Given the description of an element on the screen output the (x, y) to click on. 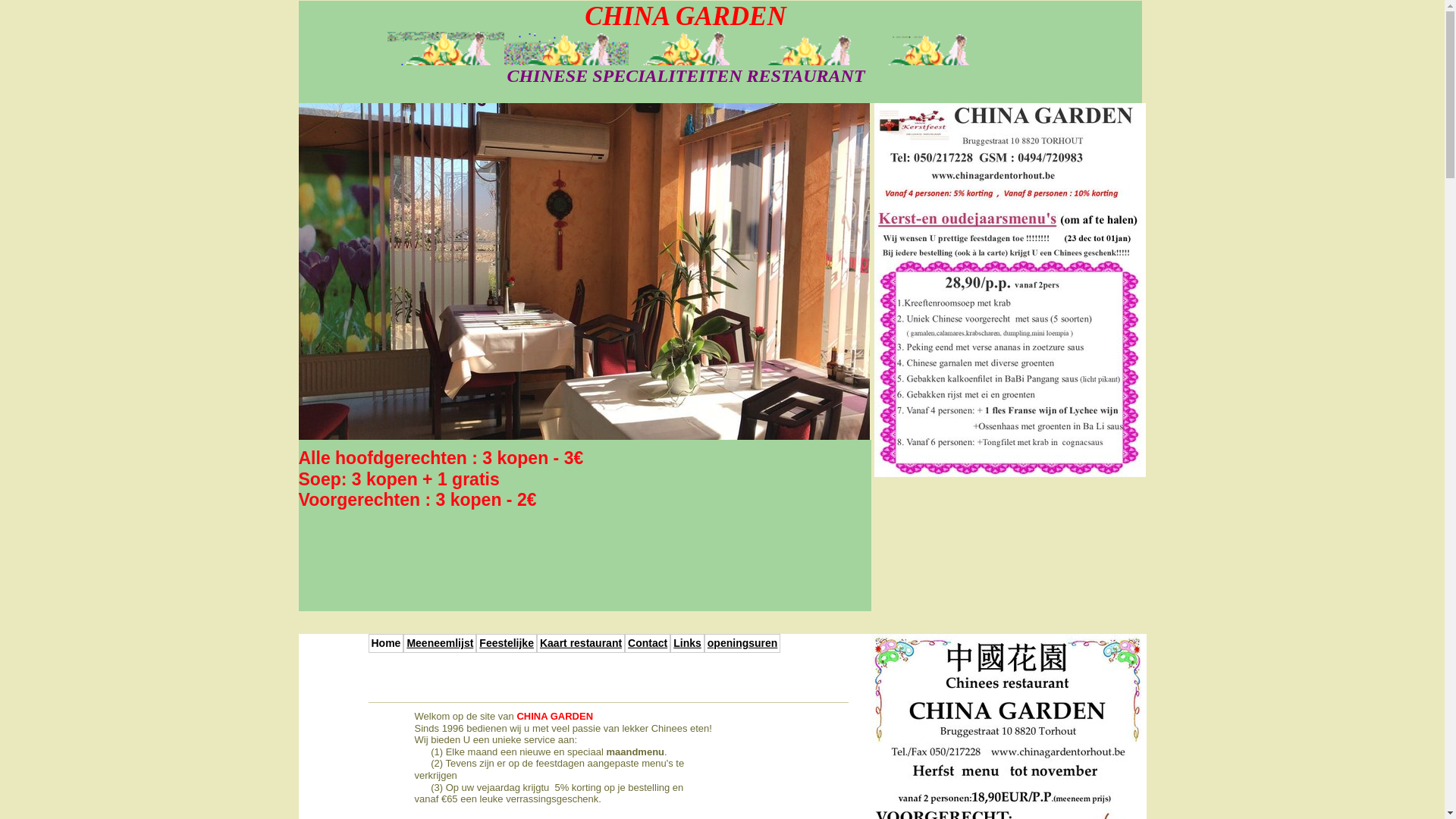
Contact Element type: text (647, 642)
Feestelijke Element type: text (506, 642)
Kaart restaurant Element type: text (580, 642)
Home Element type: text (386, 642)
openingsuren Element type: text (742, 642)
Links Element type: text (687, 642)
Meeneemlijst Element type: text (439, 642)
